Given the description of an element on the screen output the (x, y) to click on. 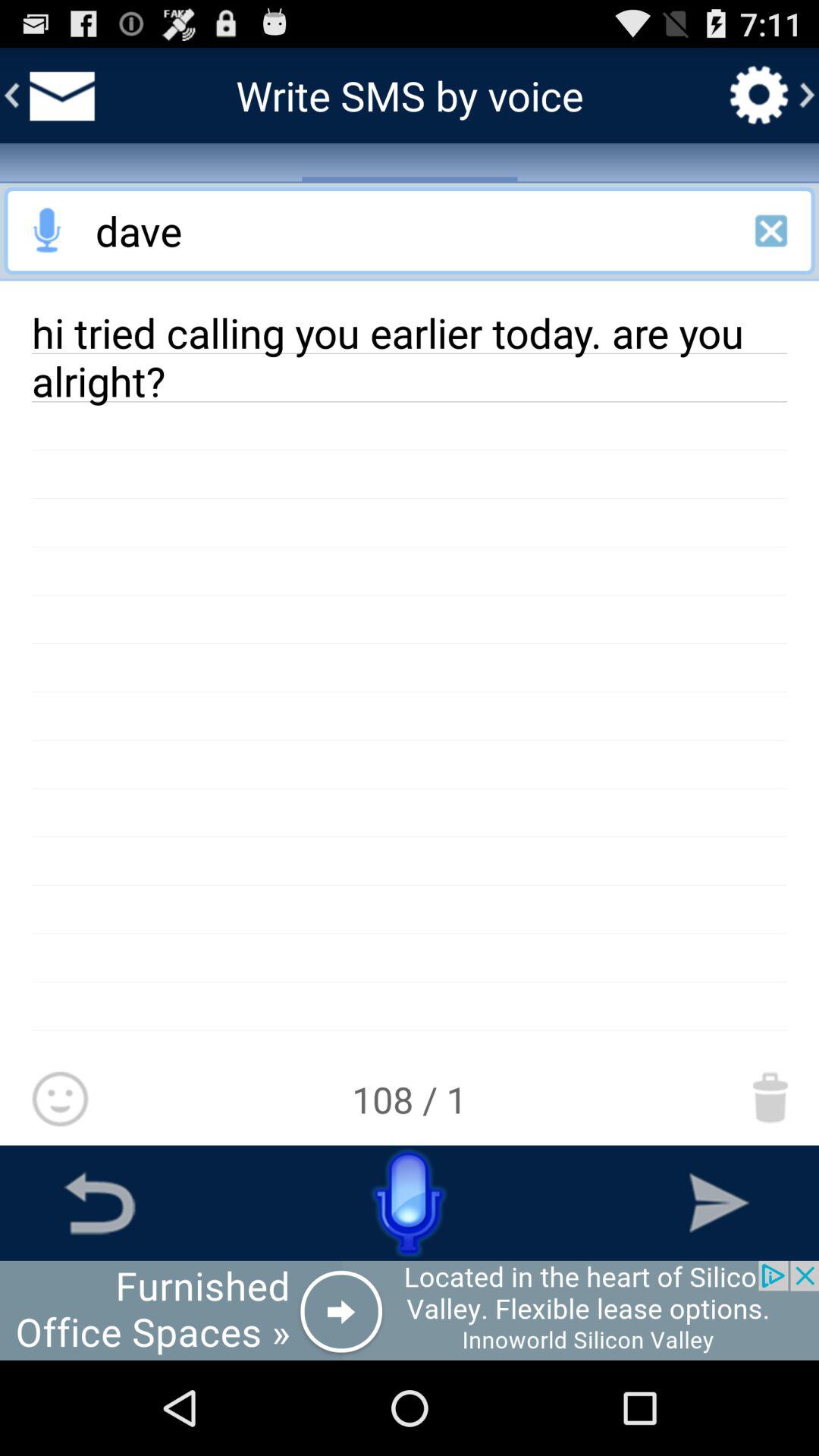
move this message to trash (770, 1097)
